Given the description of an element on the screen output the (x, y) to click on. 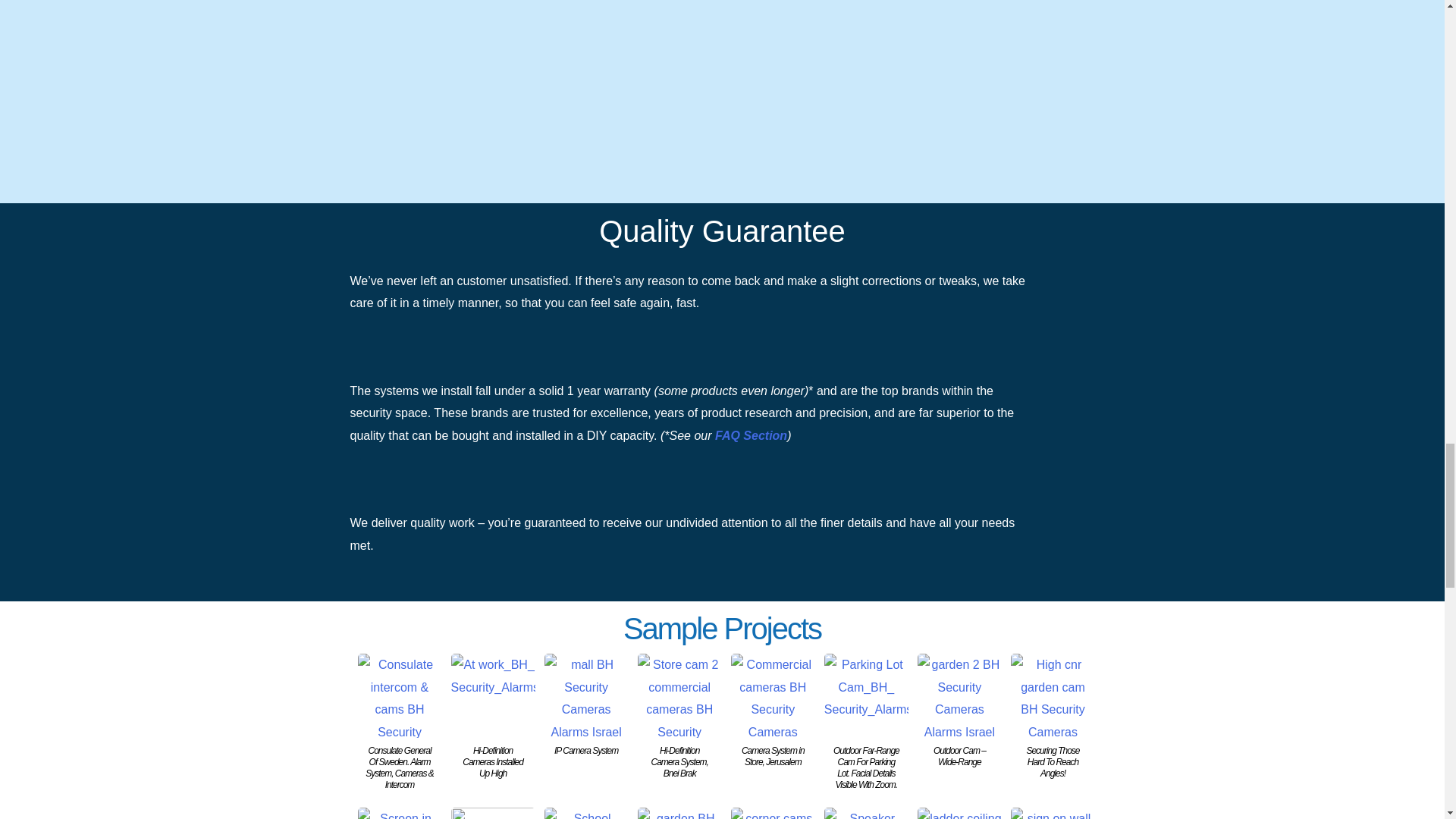
FAQ Section (750, 435)
